Given the description of an element on the screen output the (x, y) to click on. 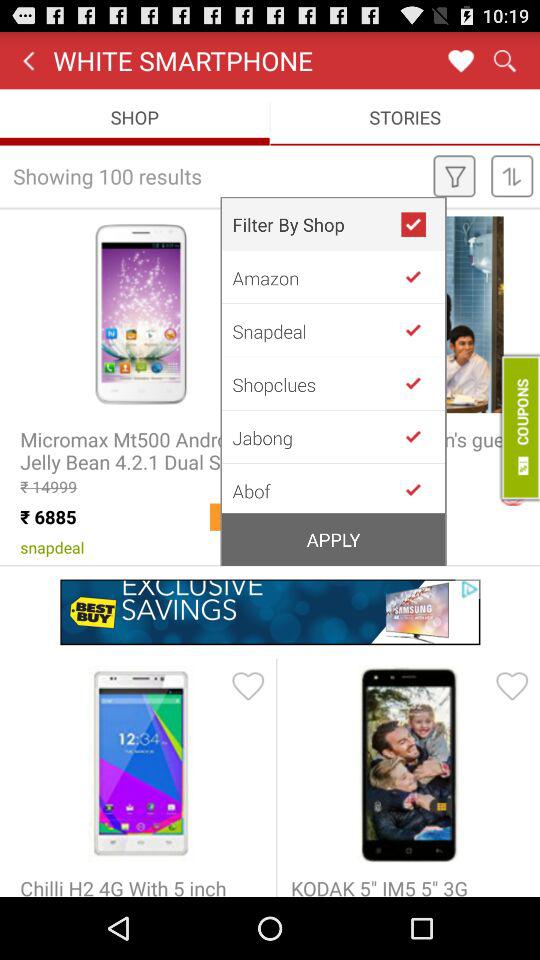
swipe until the jabong item (316, 437)
